Given the description of an element on the screen output the (x, y) to click on. 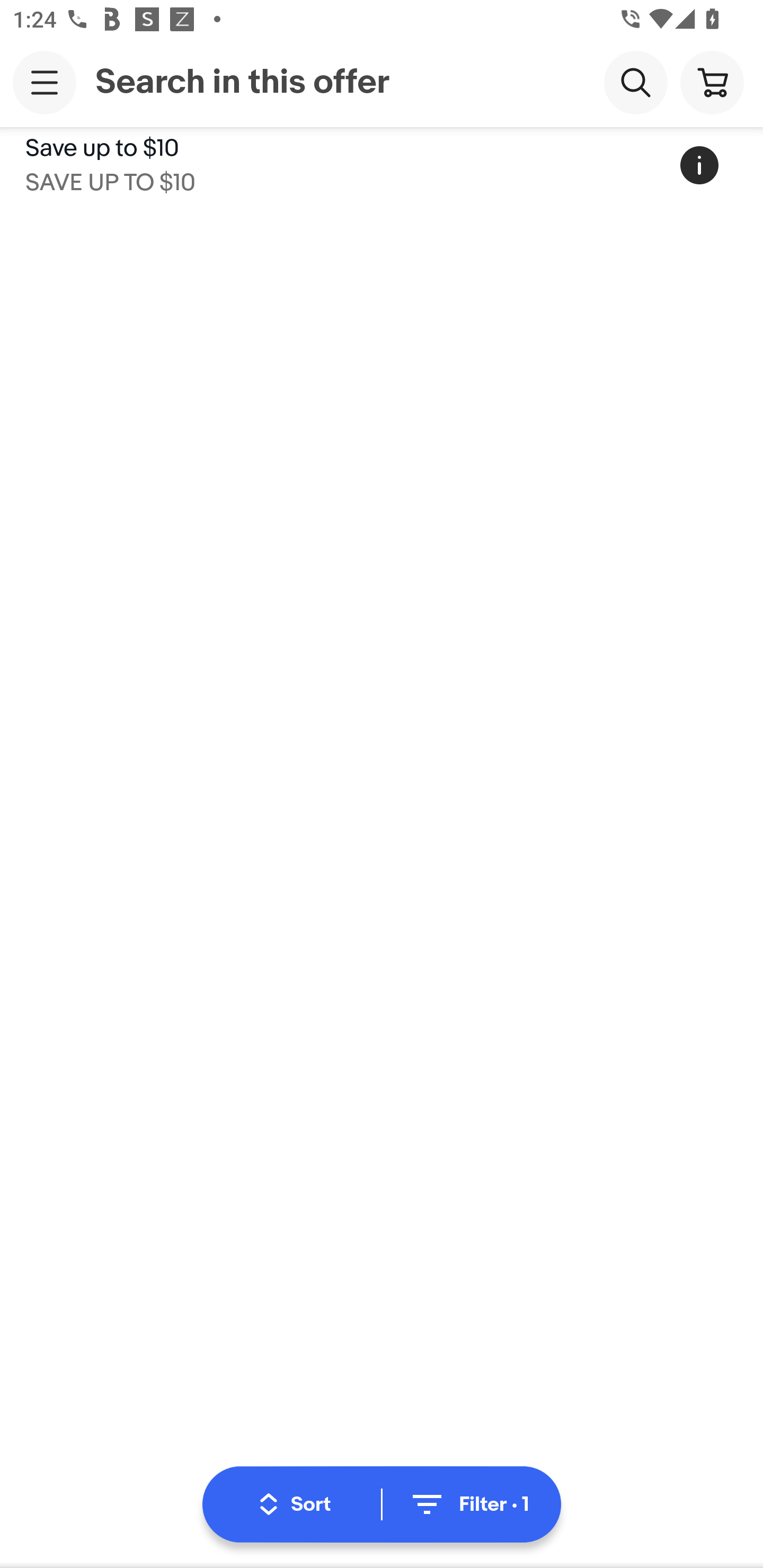
Main navigation, open (44, 82)
Search (635, 81)
Cart button shopping cart (711, 81)
More information regarding this promotion, button (699, 165)
SAVE UP TO $10 (110, 178)
Sort (294, 1504)
Filter • 1 (468, 1504)
